Given the description of an element on the screen output the (x, y) to click on. 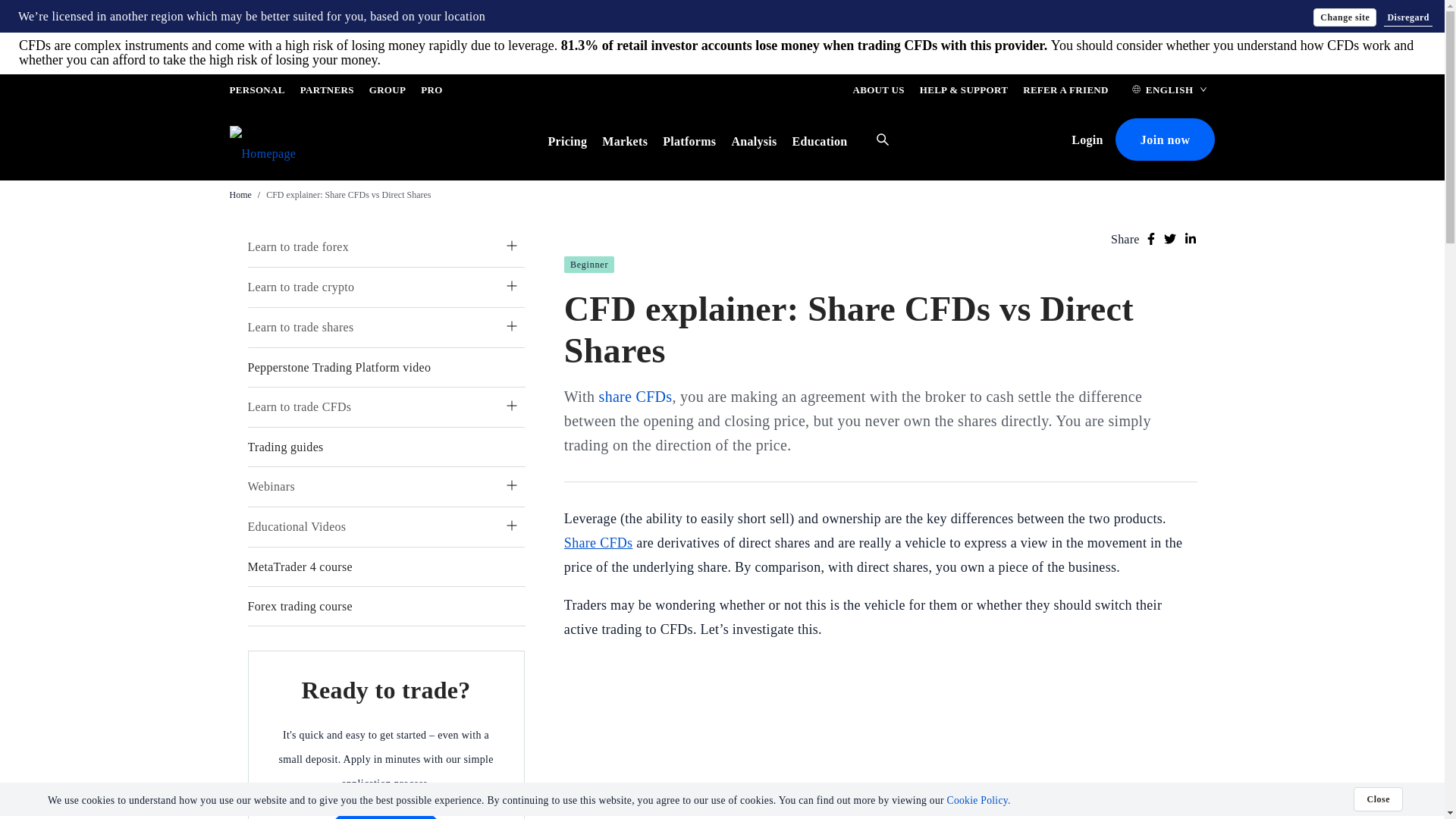
Learn to trade forex (297, 246)
Learn to trade CFDs (298, 406)
Pricing (566, 141)
Markets (624, 141)
PRO (431, 92)
PARTNERS (326, 92)
share CFDs (635, 396)
PARTNERS (326, 92)
Join now (386, 815)
PRO (431, 92)
